Given the description of an element on the screen output the (x, y) to click on. 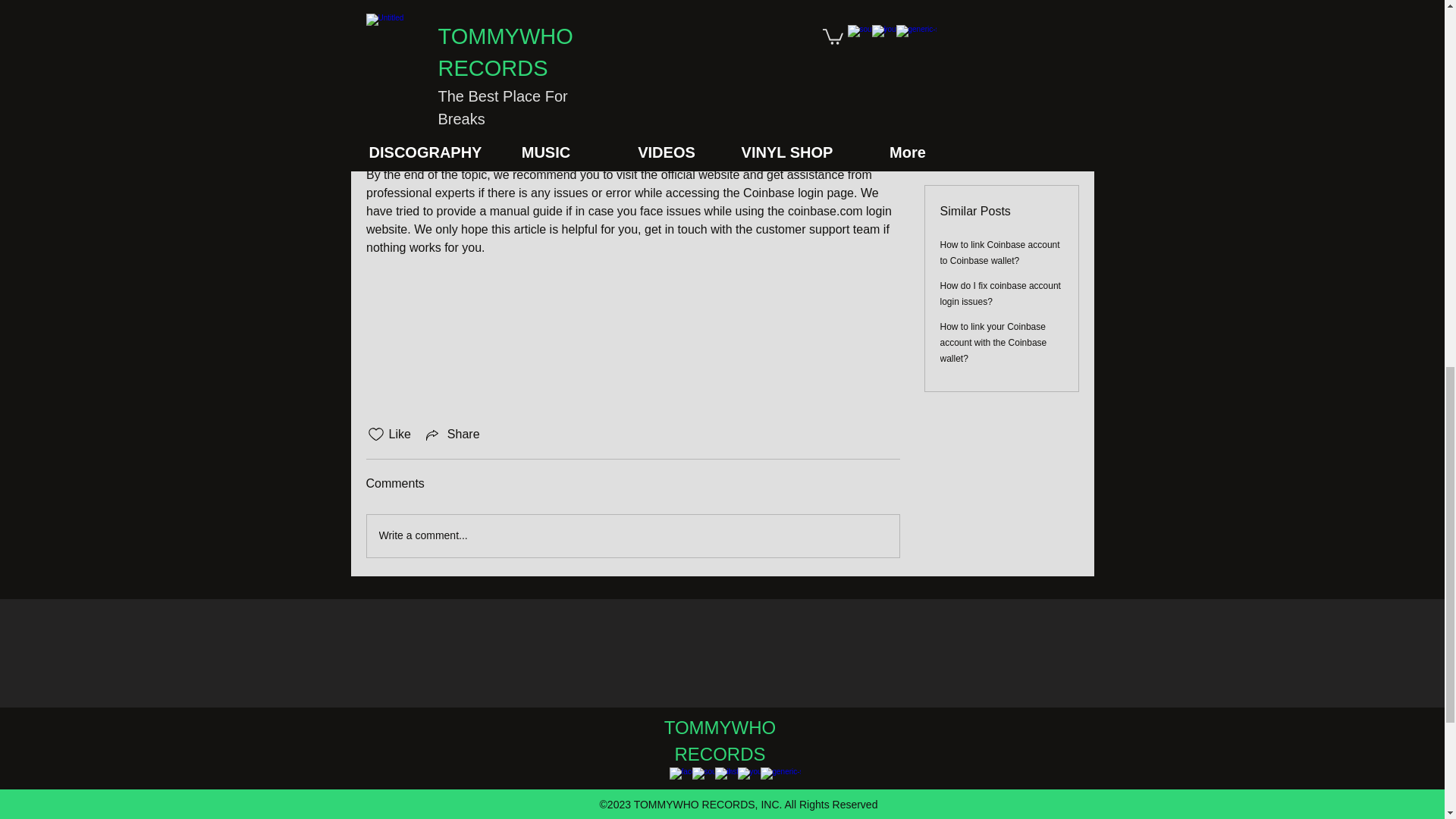
Write a comment... (632, 536)
Share (451, 434)
